Given the description of an element on the screen output the (x, y) to click on. 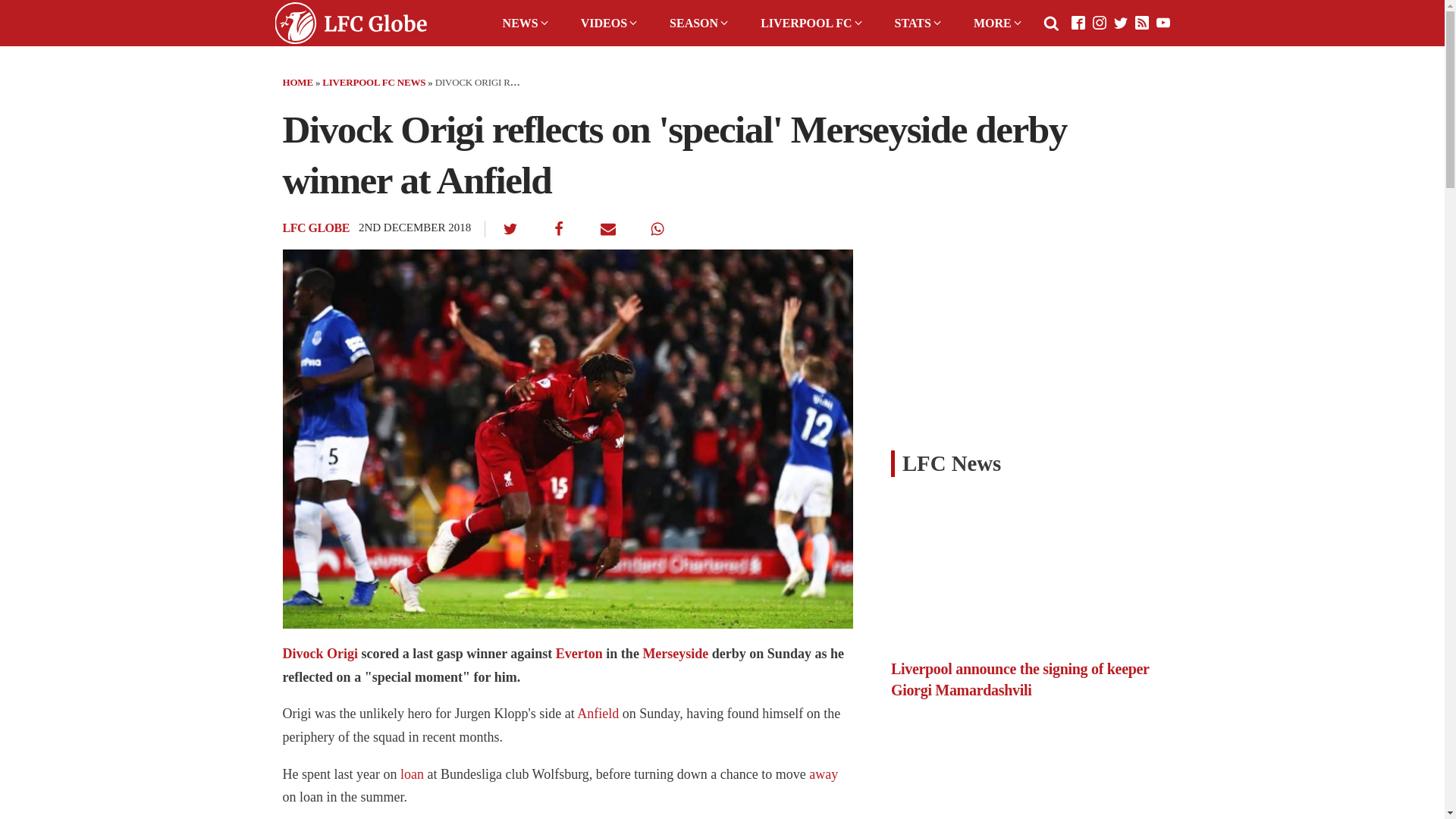
NEWS (526, 22)
Related Liverpool FC news and insights (674, 653)
Related Liverpool FC news and insights (320, 653)
LIVERPOOL FC (811, 22)
SEASON (700, 22)
Related Liverpool FC news and insights (579, 653)
Related Liverpool FC news and insights (411, 774)
Related Liverpool FC news and insights (823, 774)
STATS (918, 22)
VIDEOS (609, 22)
